Given the description of an element on the screen output the (x, y) to click on. 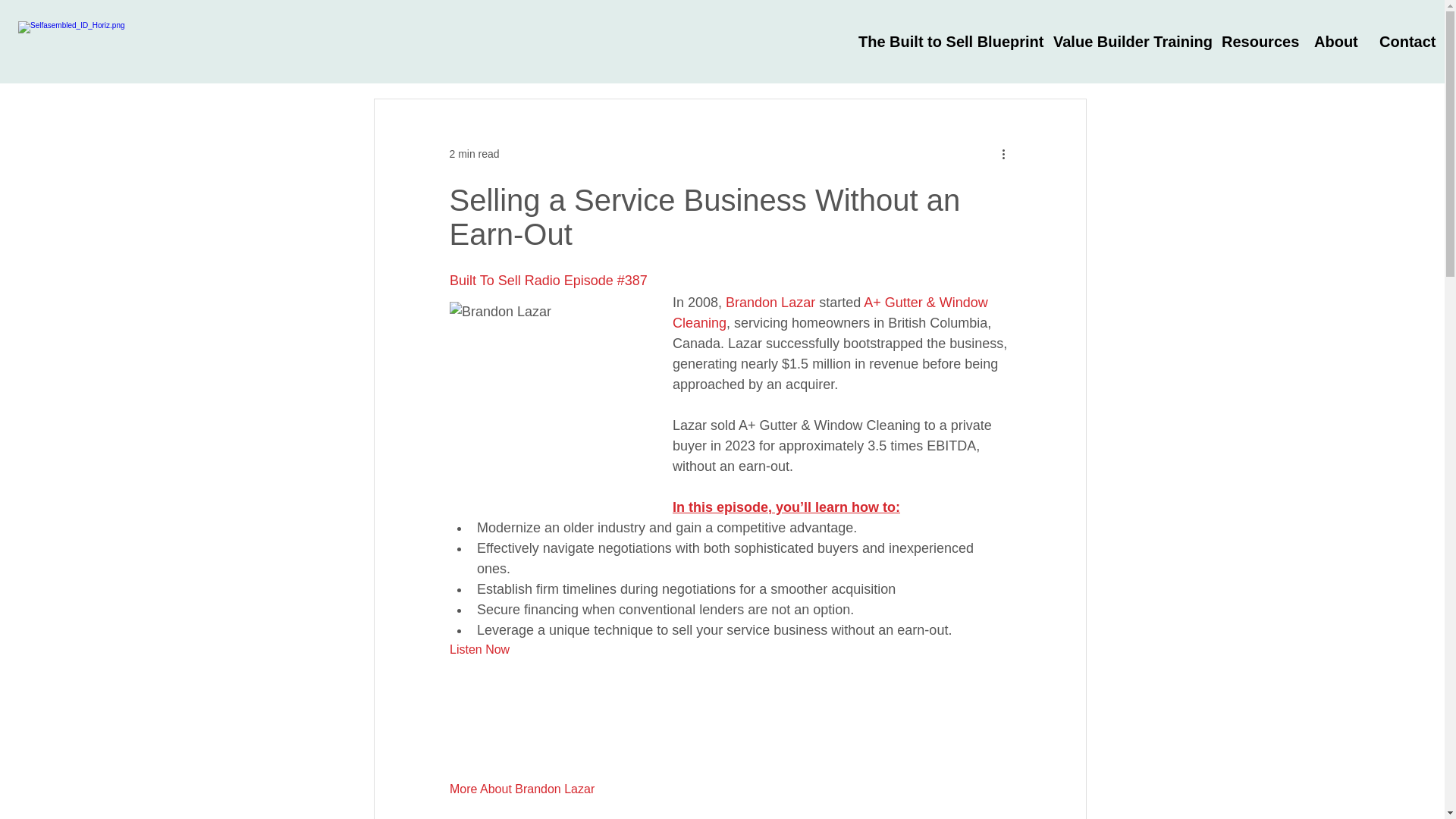
About (1335, 41)
Brandon Lazar (770, 302)
Resources (1256, 41)
2 min read (473, 152)
Value Builder Training (1125, 41)
The Built to Sell Blueprint (944, 41)
